Given the description of an element on the screen output the (x, y) to click on. 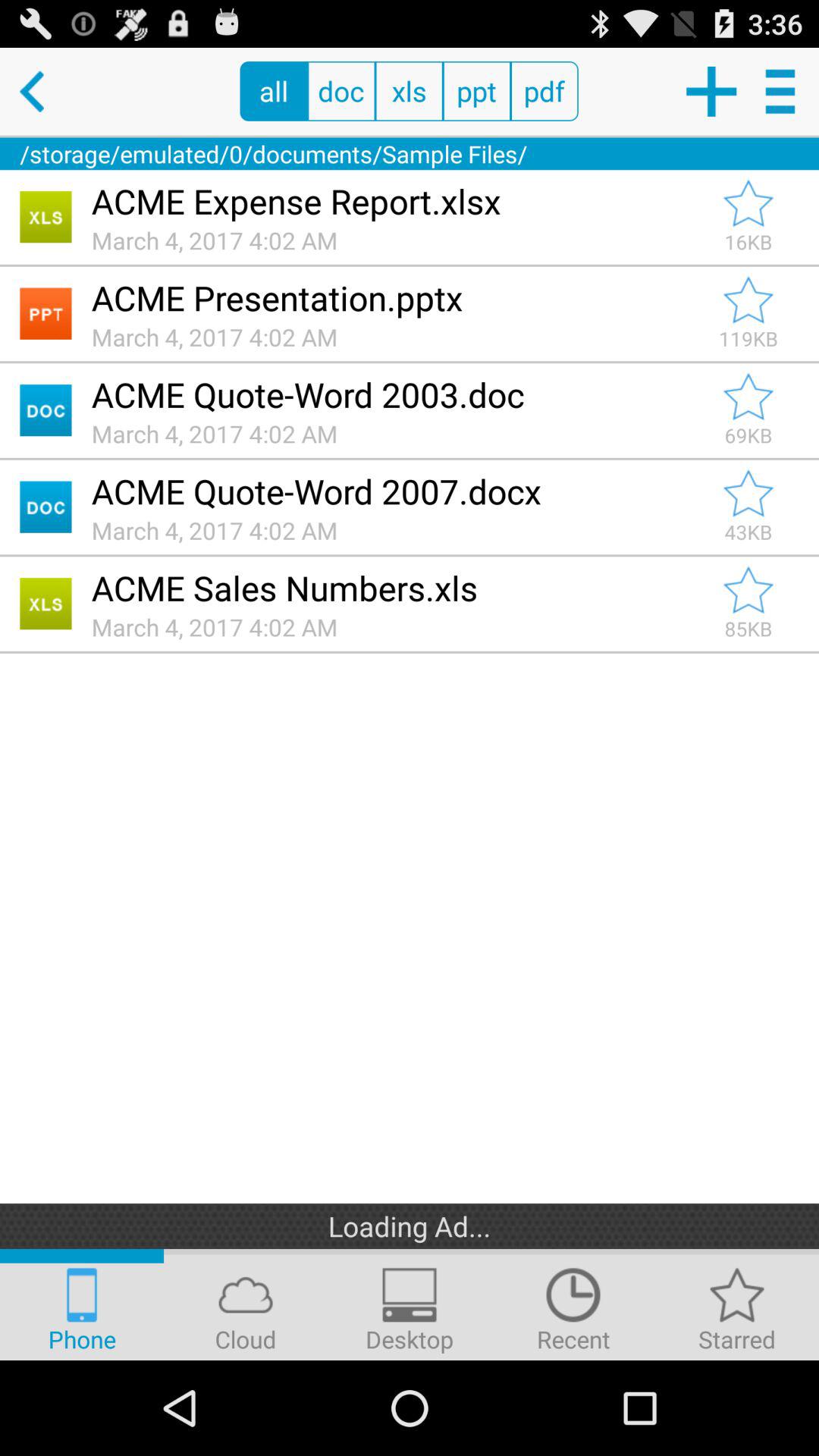
create new documents (710, 91)
